Given the description of an element on the screen output the (x, y) to click on. 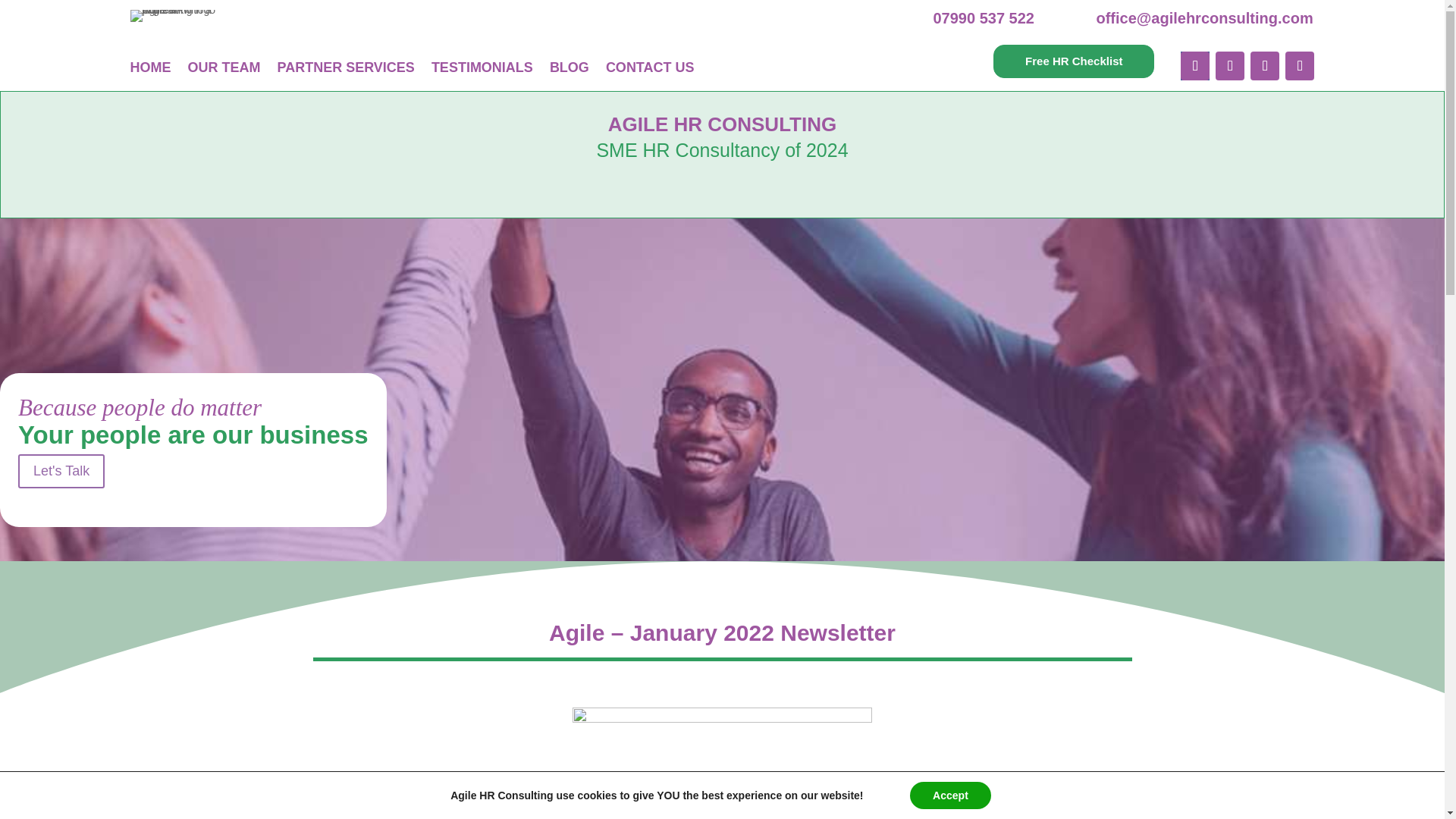
PARTNER SERVICES (346, 66)
Follow on LinkedIn (1264, 65)
Let's Talk (60, 471)
Follow on X (1229, 65)
Free HR Checklist (1073, 61)
Dark side (722, 755)
Accept (950, 795)
TESTIMONIALS (481, 66)
BLOG (569, 66)
Follow on Instagram (1299, 65)
